Given the description of an element on the screen output the (x, y) to click on. 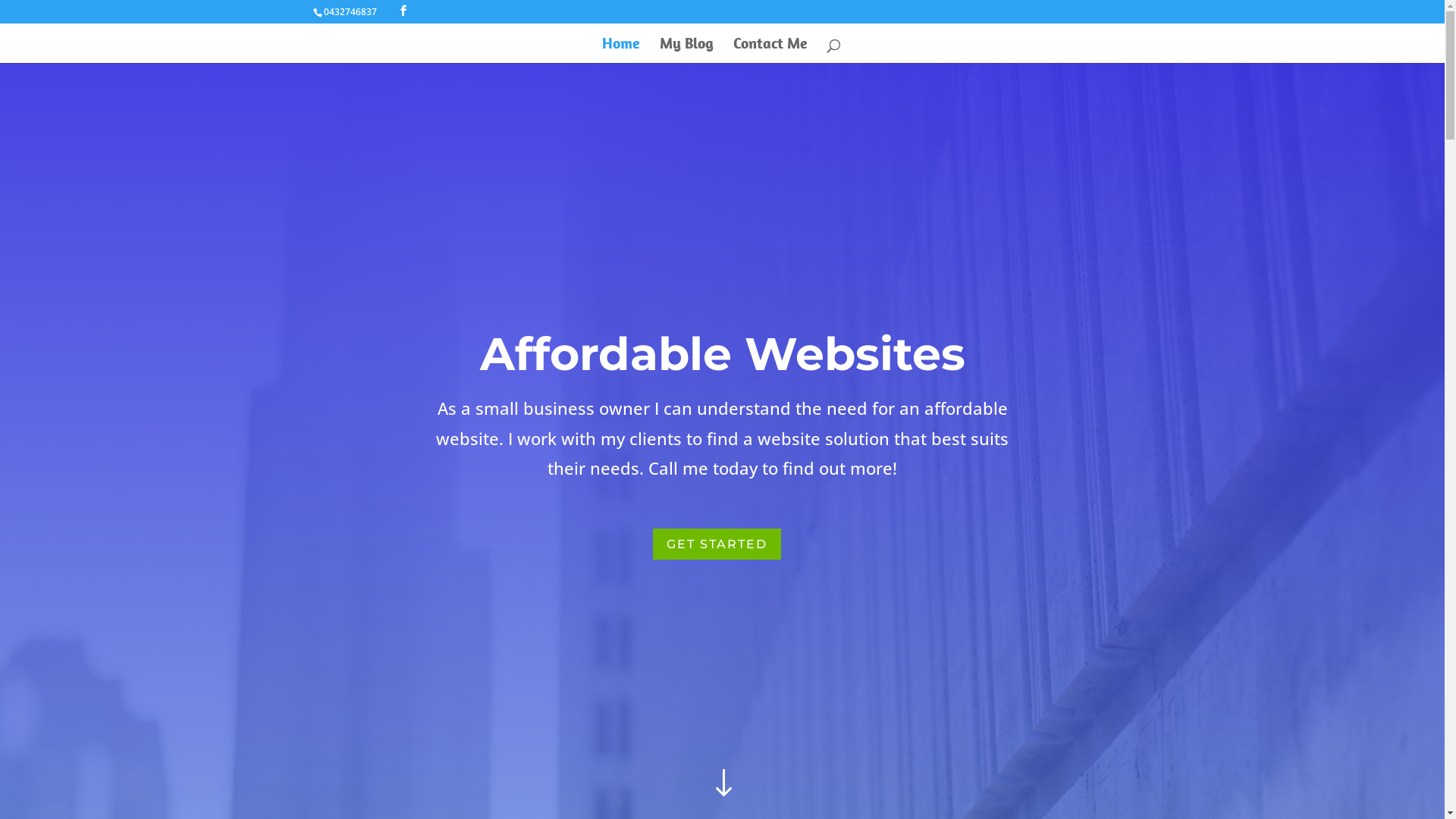
Contact Me Element type: text (770, 49)
GET STARTED Element type: text (716, 543)
" Element type: text (721, 783)
Home Element type: text (621, 49)
My Blog Element type: text (686, 49)
